Given the description of an element on the screen output the (x, y) to click on. 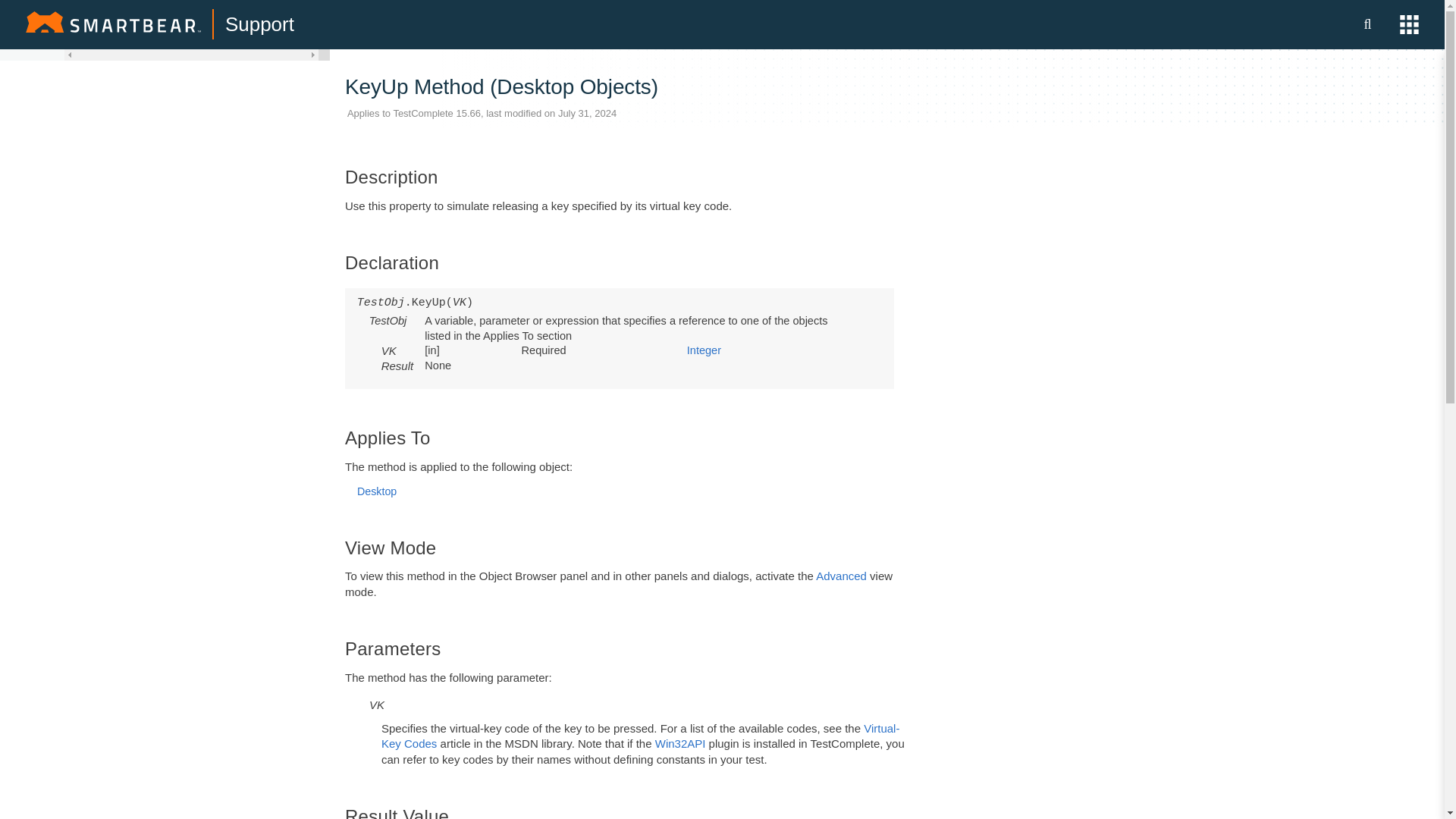
Desktop (376, 491)
Support (259, 24)
Integer (703, 349)
Win32API (680, 743)
Virtual-Key Codes (640, 735)
Advanced (840, 575)
